Given the description of an element on the screen output the (x, y) to click on. 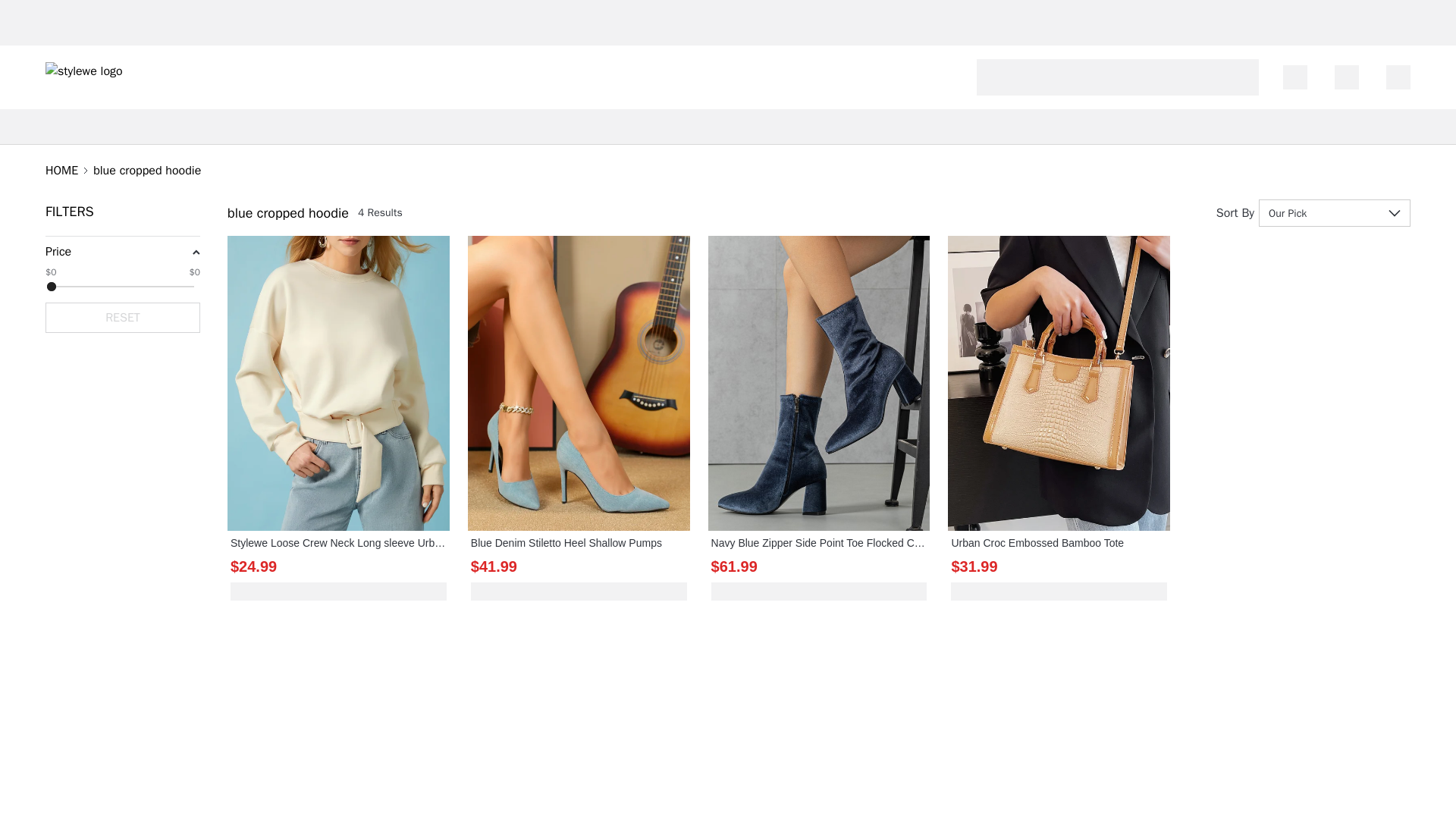
RESET (122, 317)
HOME (61, 170)
Stylewe Loose Crew Neck Long sleeve Urban Plain Sweatshirt (338, 542)
Urban Croc Embossed Bamboo Tote (1058, 542)
Blue Denim Stiletto Heel Shallow Pumps (578, 542)
Urban Croc Embossed Bamboo Tote (1058, 542)
Price (58, 251)
Blue Denim Stiletto Heel Shallow Pumps (578, 542)
